Given the description of an element on the screen output the (x, y) to click on. 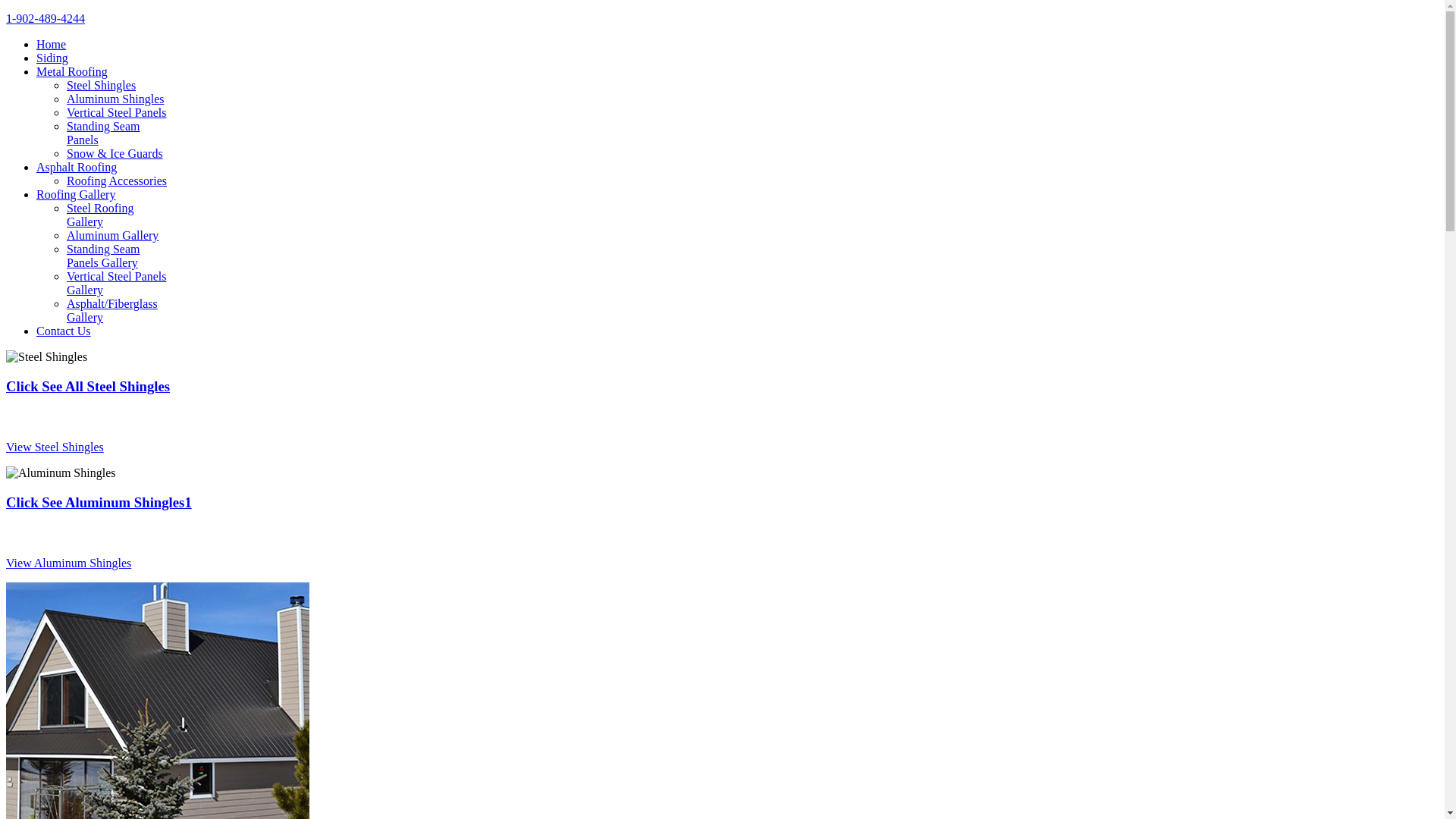
Contact Us Element type: text (63, 330)
Standing Seam Panels Gallery Element type: text (102, 255)
Roofing Gallery Element type: text (75, 194)
View Aluminum Shingles Element type: text (68, 562)
1-902-489-4244 Element type: text (45, 18)
Steel Roofing Gallery Element type: text (99, 214)
Aluminum Shingles Element type: text (114, 98)
Snow & Ice Guards Element type: text (114, 153)
Vertical Steel Panels Gallery Element type: text (116, 282)
Steel Shingles Element type: text (100, 84)
Metal Roofing Element type: text (71, 71)
Home Element type: text (50, 43)
Click See Aluminum Shingles1 Element type: text (98, 502)
Standing Seam Panels Element type: text (102, 132)
View Steel Shingles Element type: text (54, 446)
Roofing Accessories Element type: text (116, 180)
Asphalt Roofing Element type: text (76, 166)
Asphalt/Fiberglass Gallery Element type: text (111, 310)
Siding Element type: text (52, 57)
Click See All Steel Shingles Element type: text (87, 386)
Vertical Steel Panels Element type: text (116, 112)
Aluminum Gallery Element type: text (112, 235)
